Given the description of an element on the screen output the (x, y) to click on. 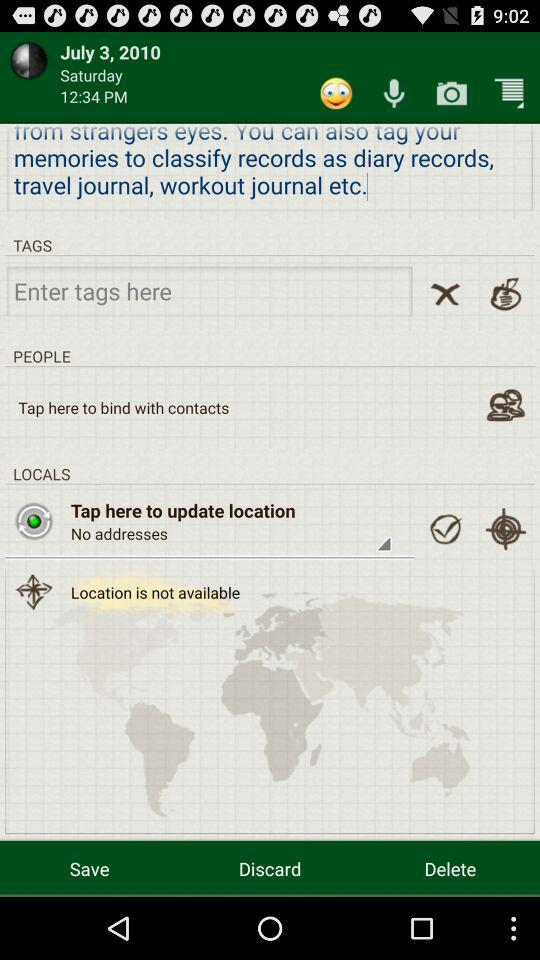
turn off item next to tap here to icon (445, 529)
